Given the description of an element on the screen output the (x, y) to click on. 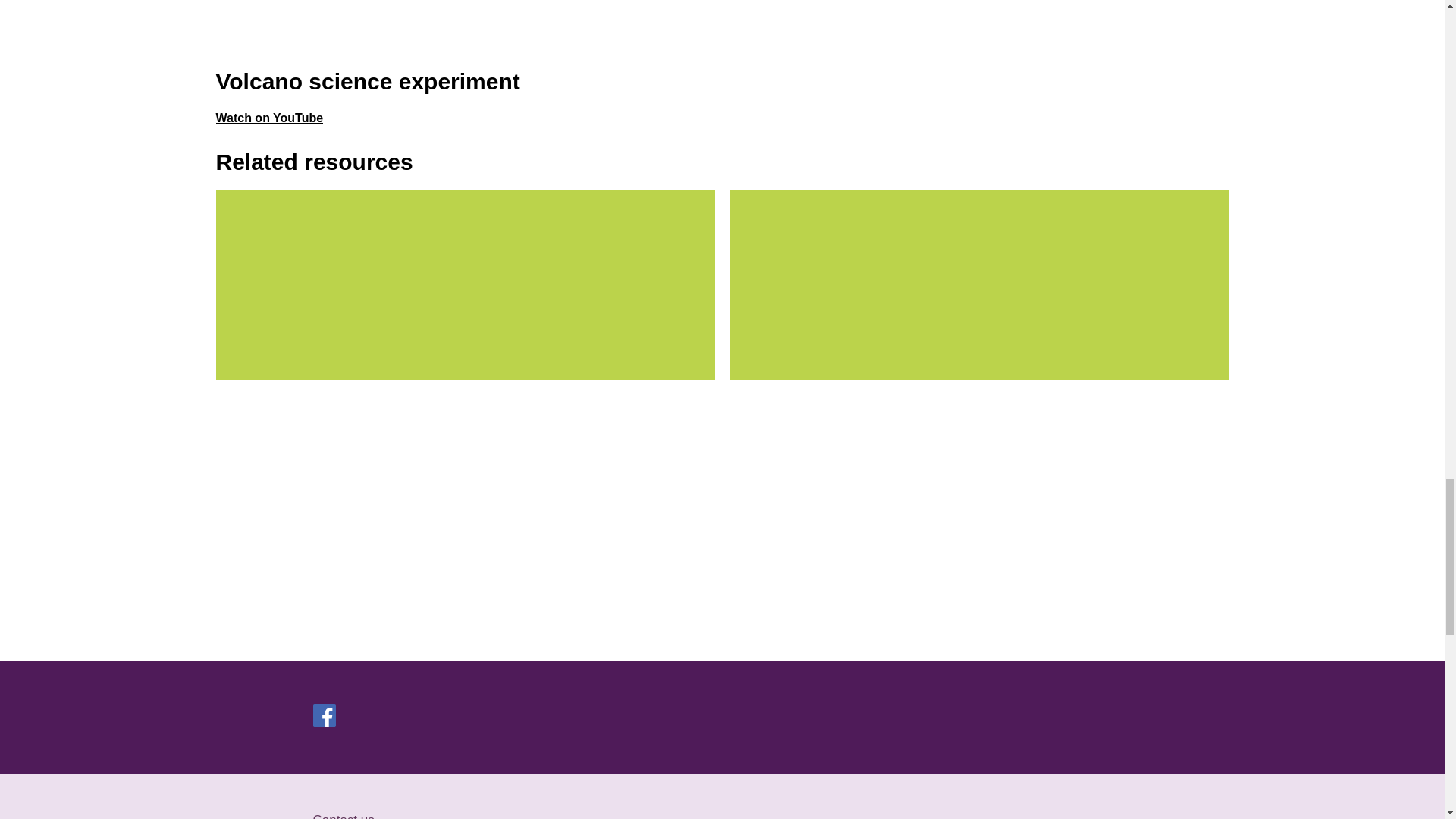
IET Instagram (353, 715)
IET Facebook (323, 715)
IET Twitter (445, 715)
IET YouTube (475, 718)
IET Pinterest (414, 715)
IET LinkedIn (384, 715)
Volcano science experiment (463, 29)
